Given the description of an element on the screen output the (x, y) to click on. 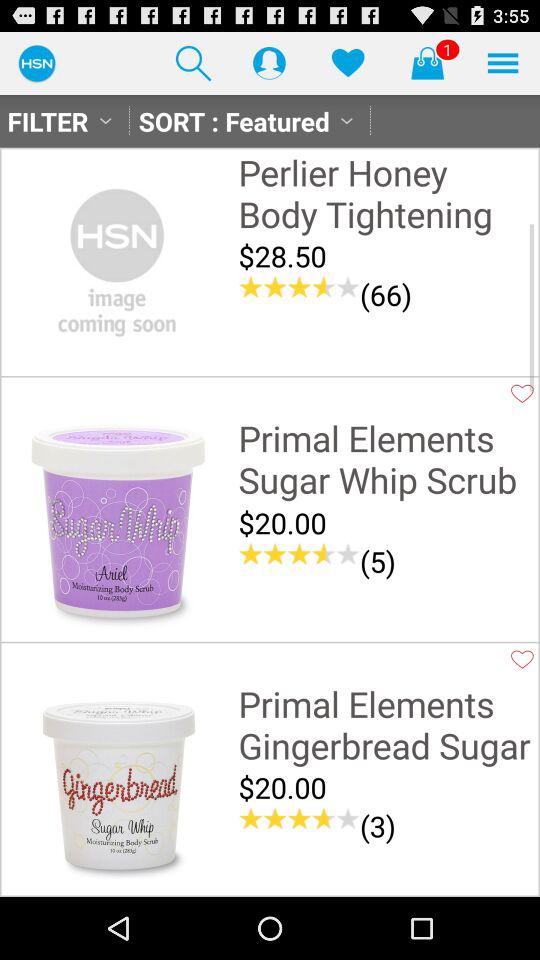
like (348, 62)
